Given the description of an element on the screen output the (x, y) to click on. 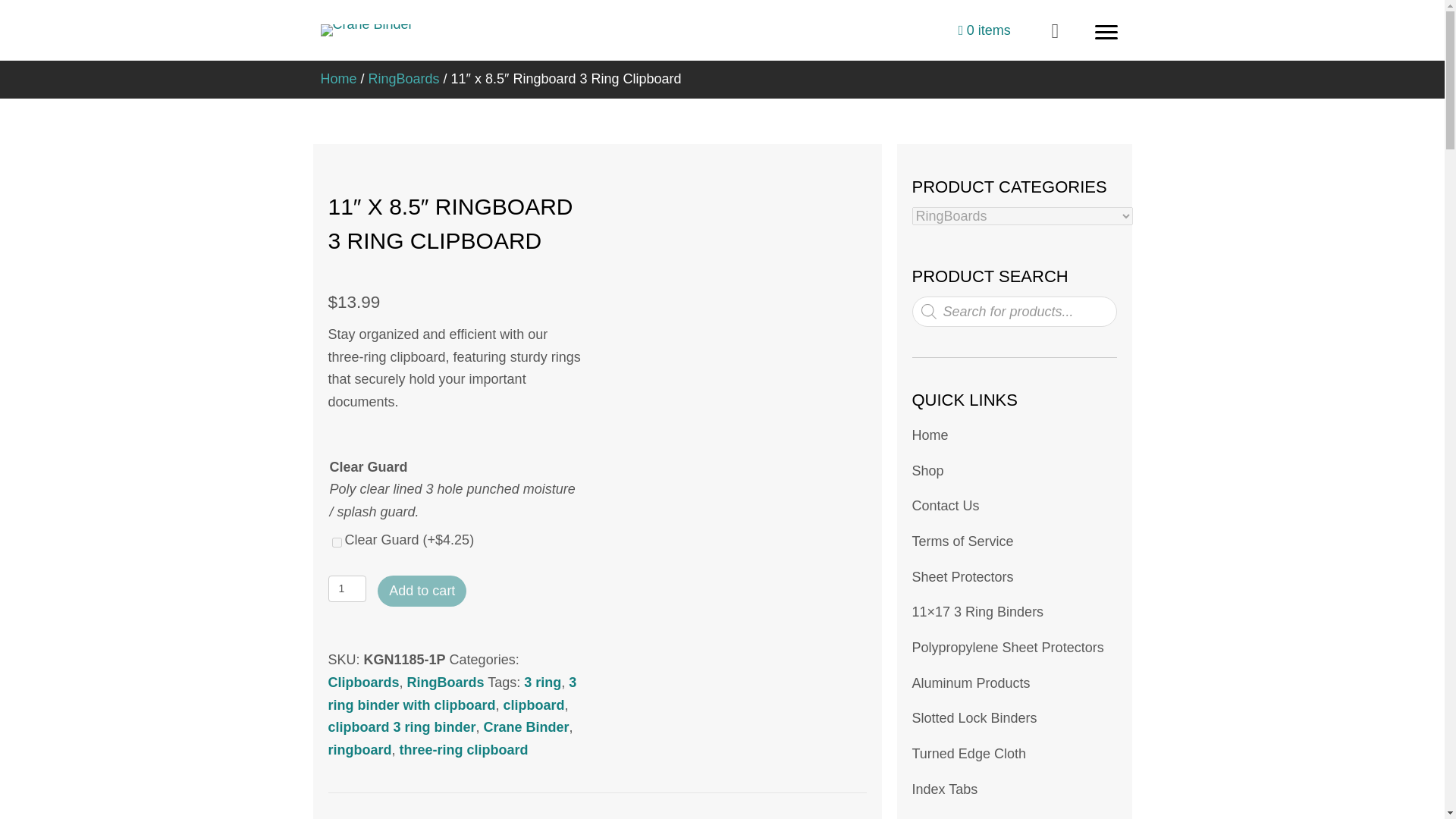
Home (338, 78)
Clipboards (362, 682)
clipboard (533, 704)
Add to cart (421, 591)
1 (346, 588)
0 items (984, 29)
3 ring binder with clipboard (451, 693)
Crane Binder (366, 30)
clipboard 3 ring binder (401, 726)
3 ring (542, 682)
Start shopping (984, 29)
RingBoards (445, 682)
RingBoards (403, 78)
clear-guard (336, 542)
